Given the description of an element on the screen output the (x, y) to click on. 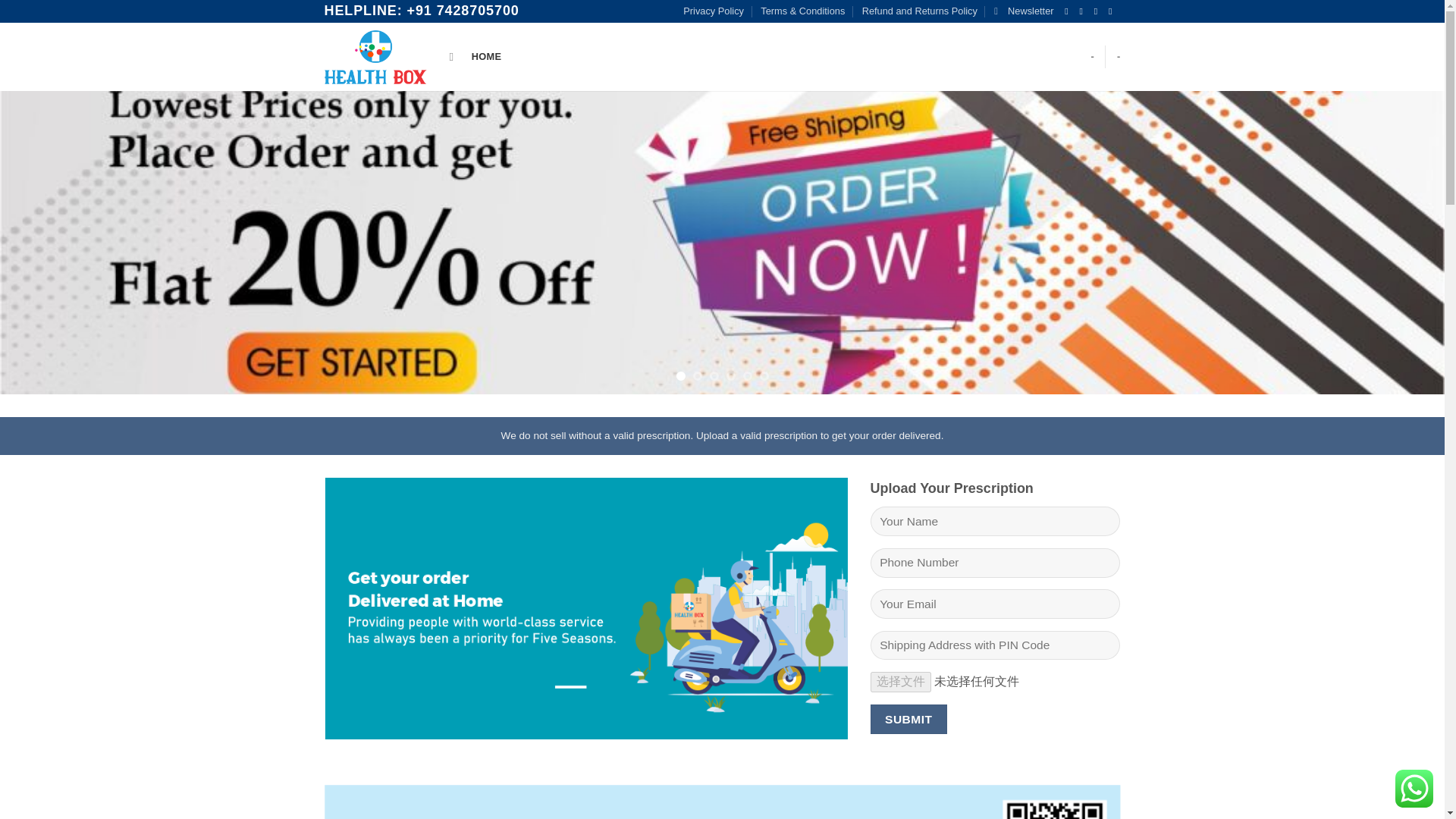
HOME (485, 56)
Refund and Returns Policy (918, 11)
Submit (908, 718)
Submit (908, 718)
Sign up for Newsletter (1023, 11)
Privacy Policy (713, 11)
Newsletter (1023, 11)
